Given the description of an element on the screen output the (x, y) to click on. 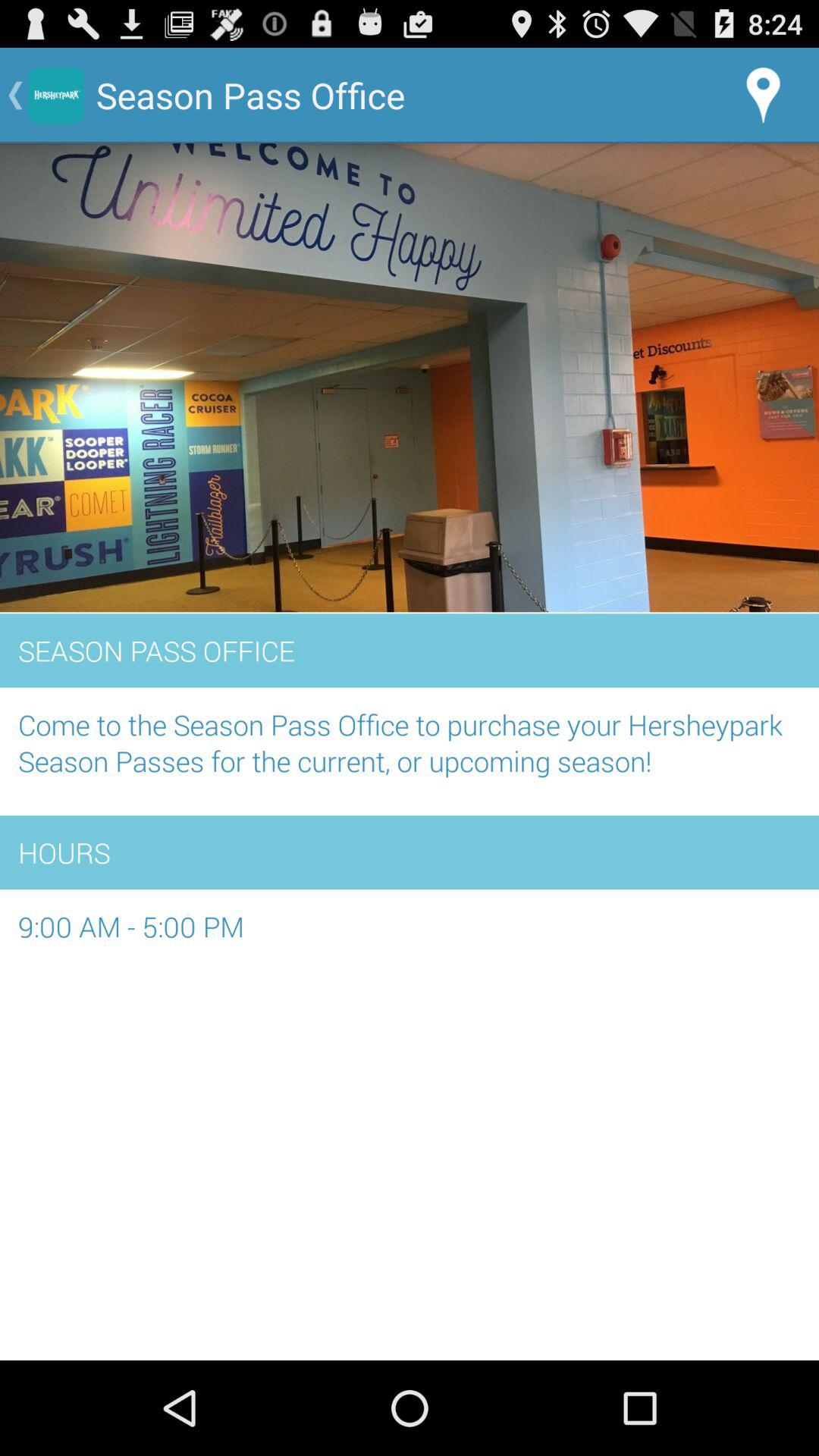
launch 9 00 am (409, 935)
